Given the description of an element on the screen output the (x, y) to click on. 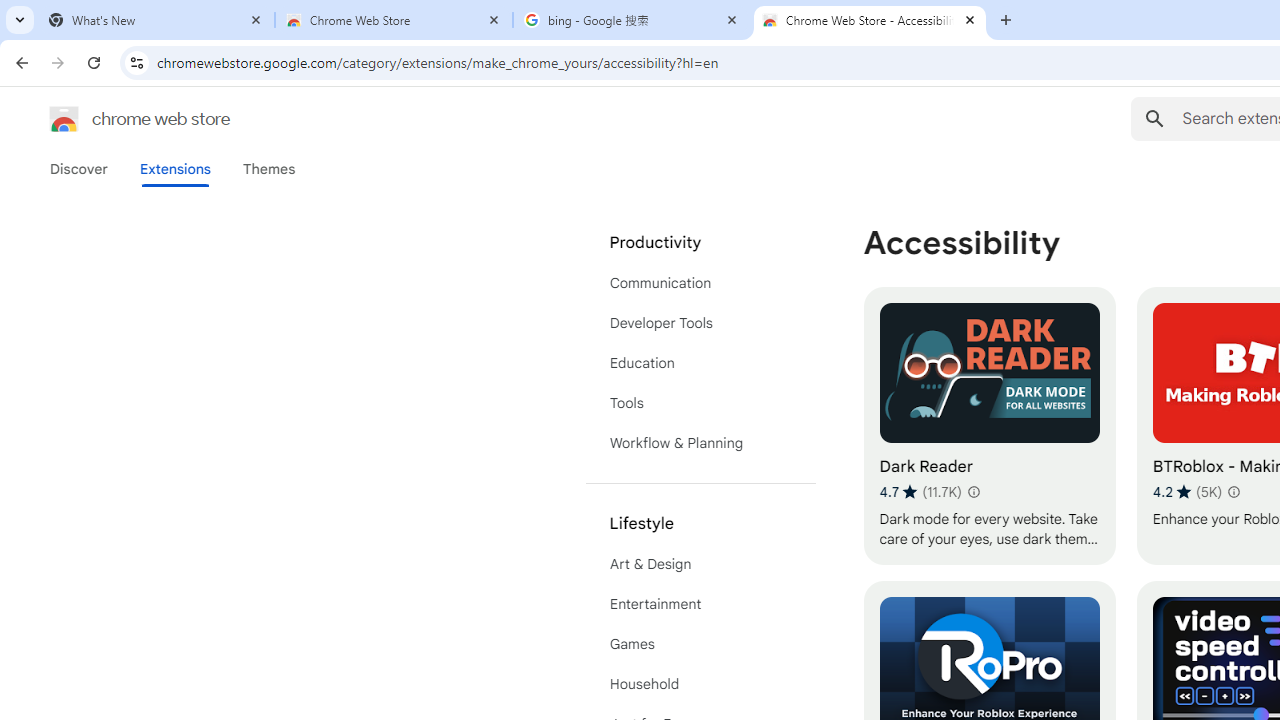
What's New (156, 20)
Discover (79, 169)
Entertainment (700, 603)
Average rating 4.7 out of 5 stars. 11.7K ratings. (920, 491)
Communication (700, 282)
Chrome Web Store (394, 20)
Tools (700, 403)
Art & Design (700, 563)
